Given the description of an element on the screen output the (x, y) to click on. 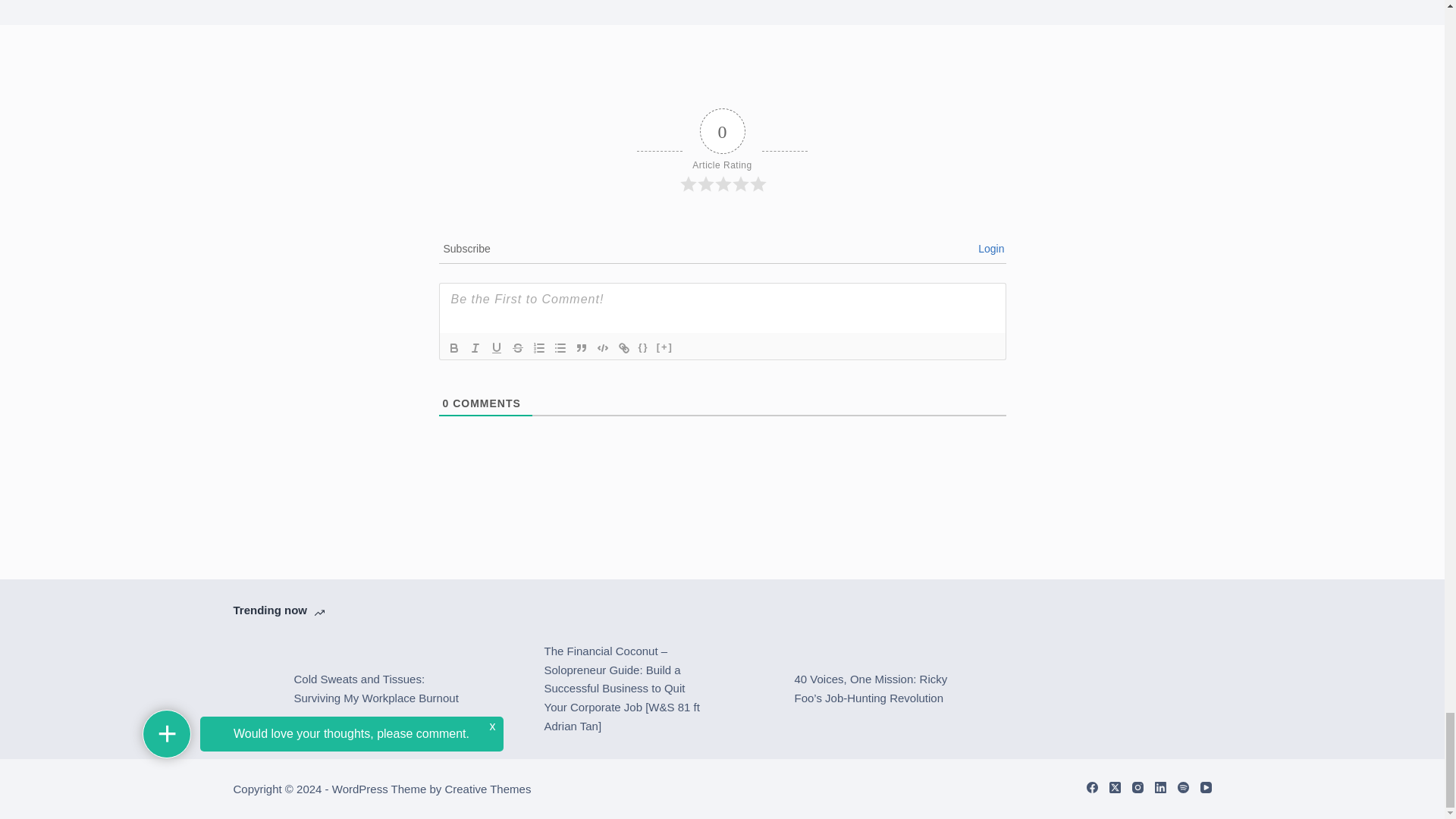
Italic (474, 348)
Bold (453, 348)
